Given the description of an element on the screen output the (x, y) to click on. 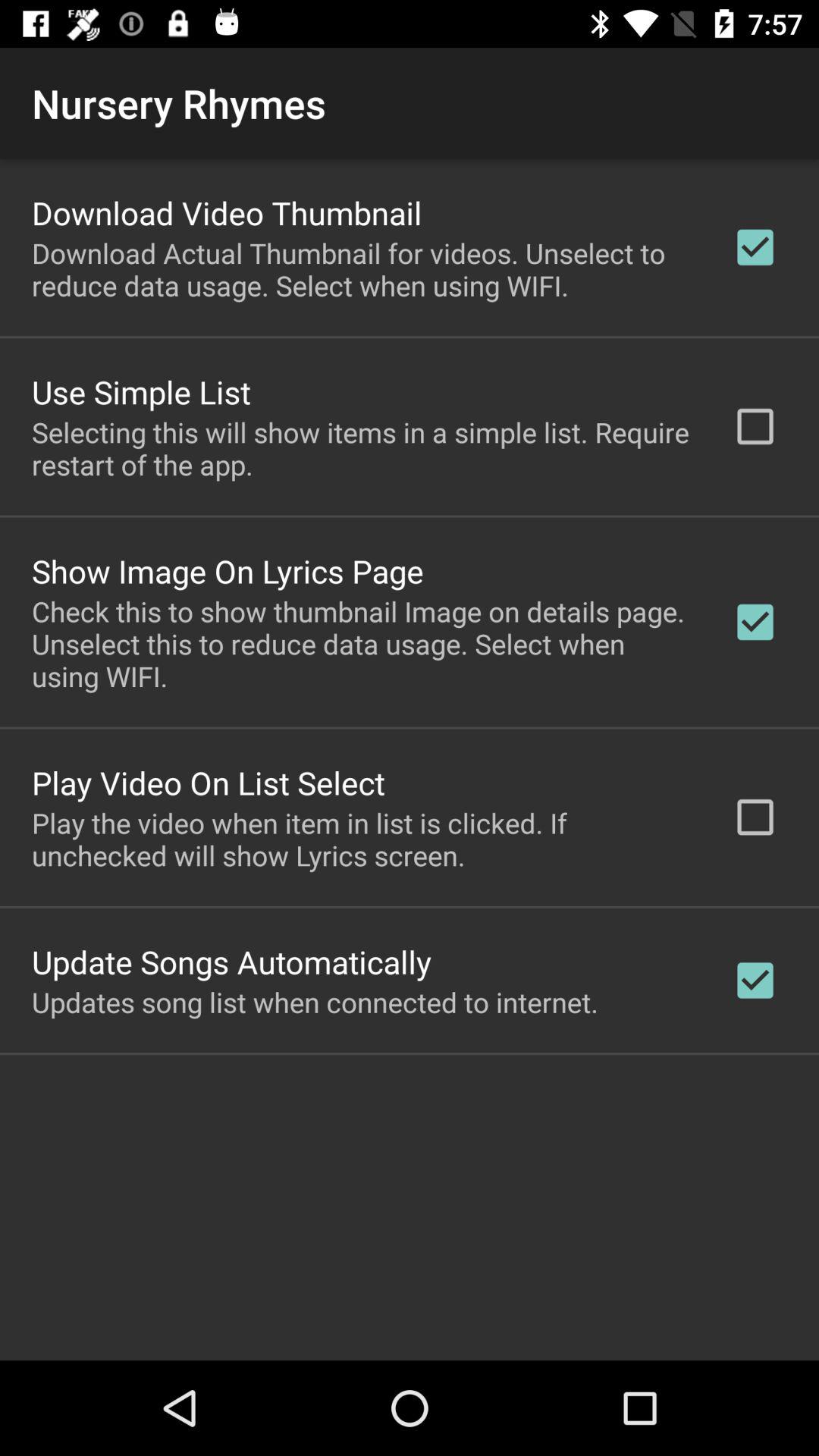
turn on the updates song list icon (314, 1001)
